Given the description of an element on the screen output the (x, y) to click on. 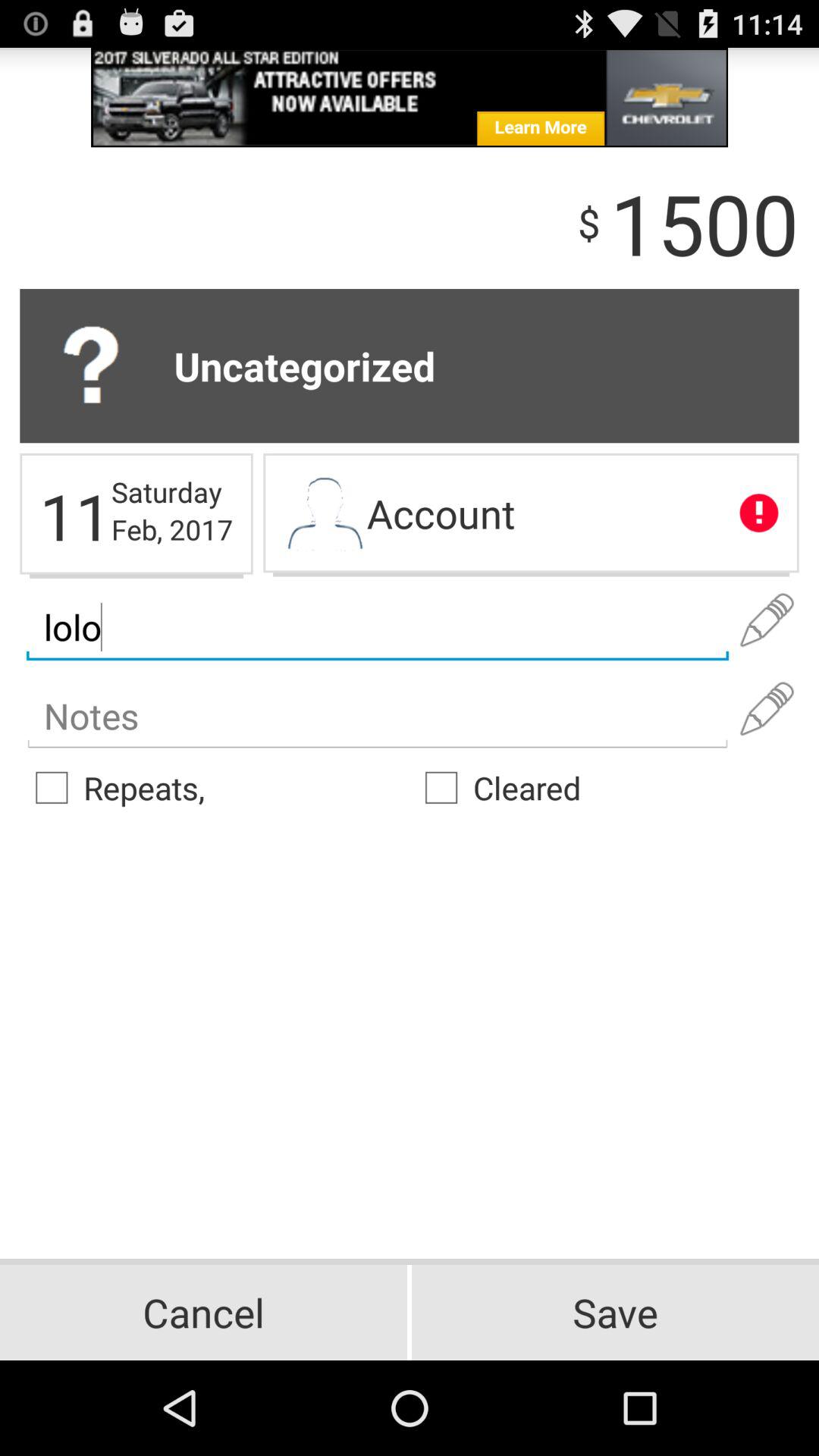
go to advertisement website (409, 97)
